Given the description of an element on the screen output the (x, y) to click on. 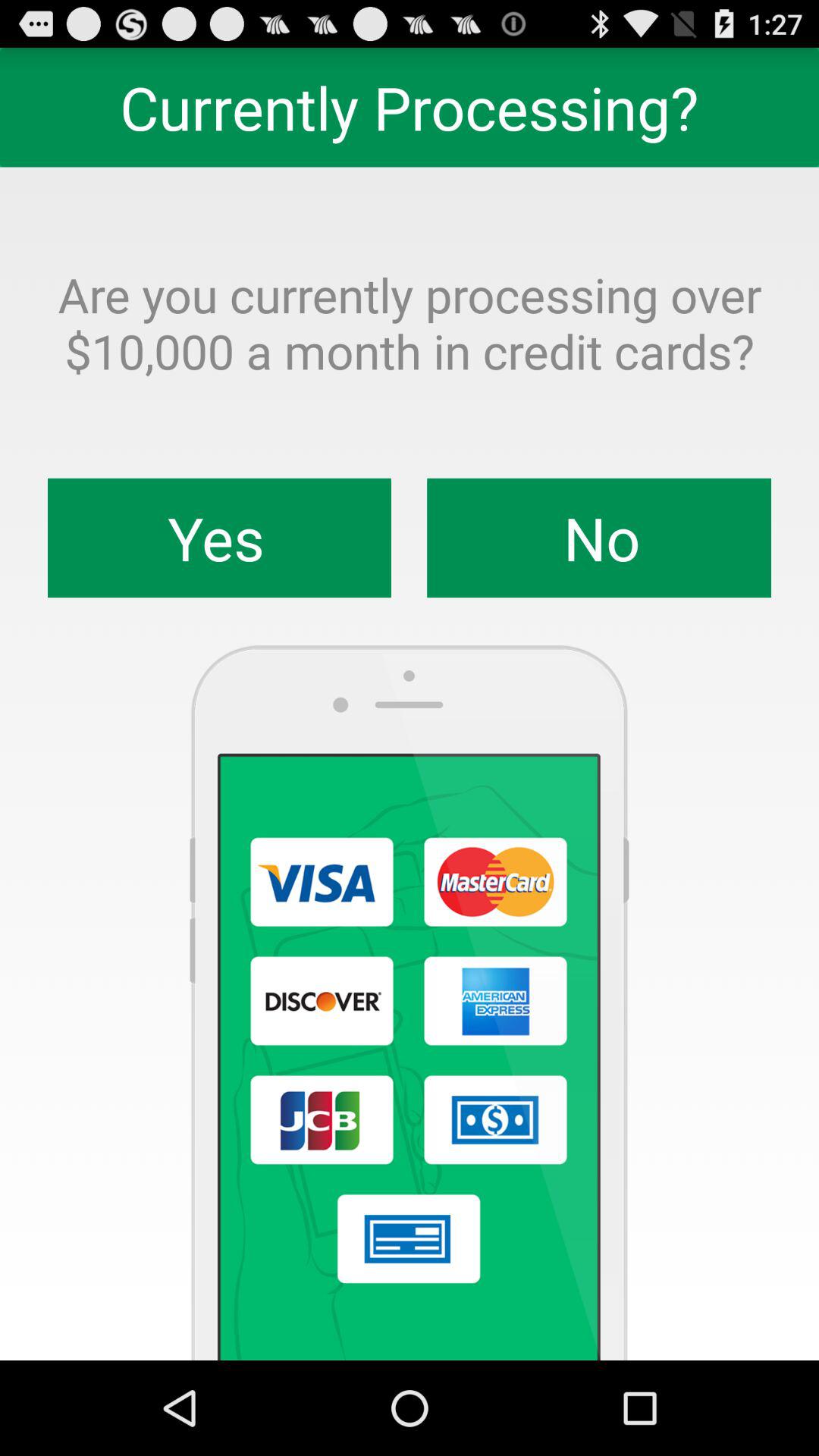
tap the app to the right of yes icon (599, 537)
